Given the description of an element on the screen output the (x, y) to click on. 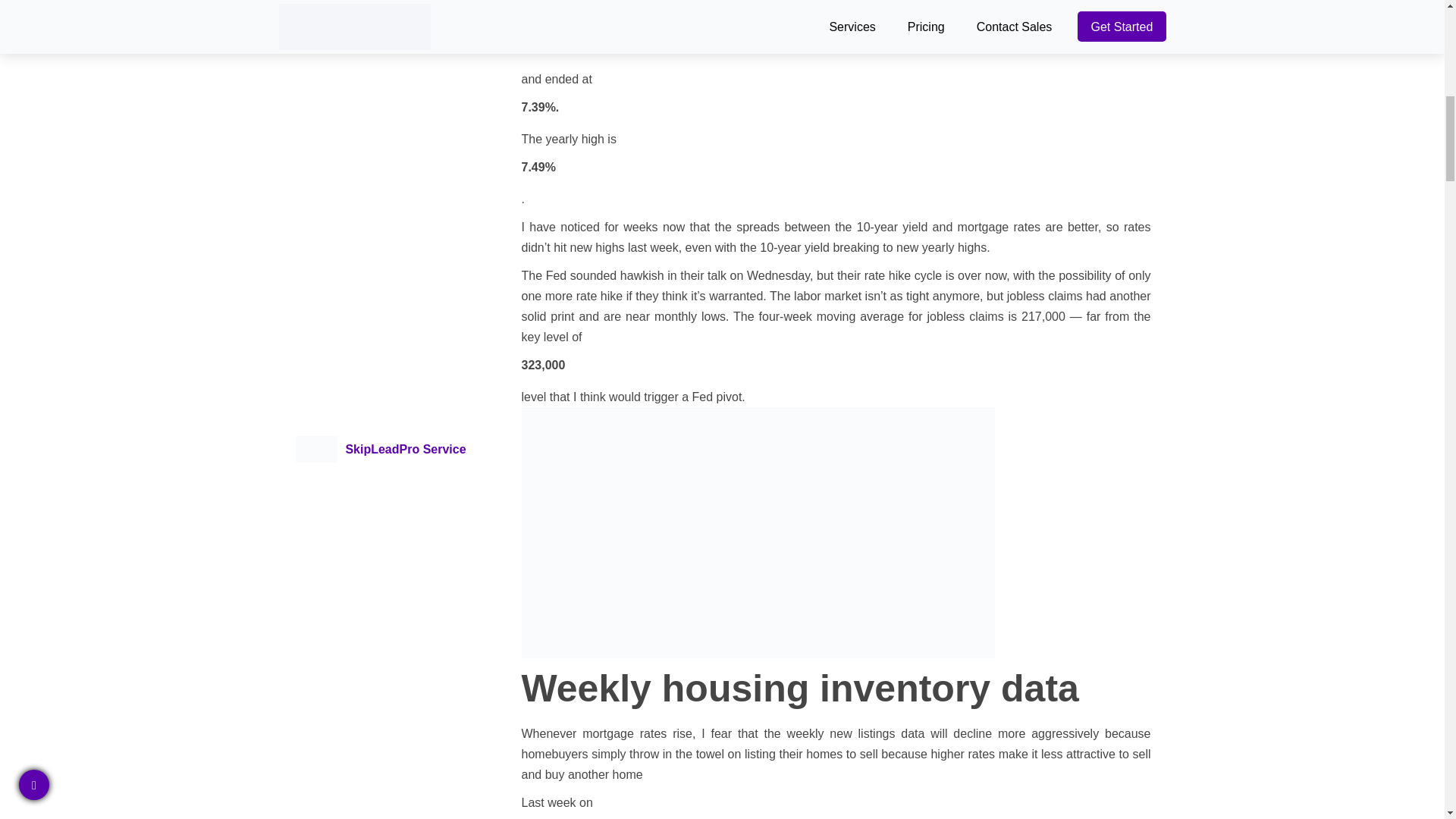
GET STARTED NOW (836, 807)
Subscribe (381, 348)
Subscribe (380, 226)
